Given the description of an element on the screen output the (x, y) to click on. 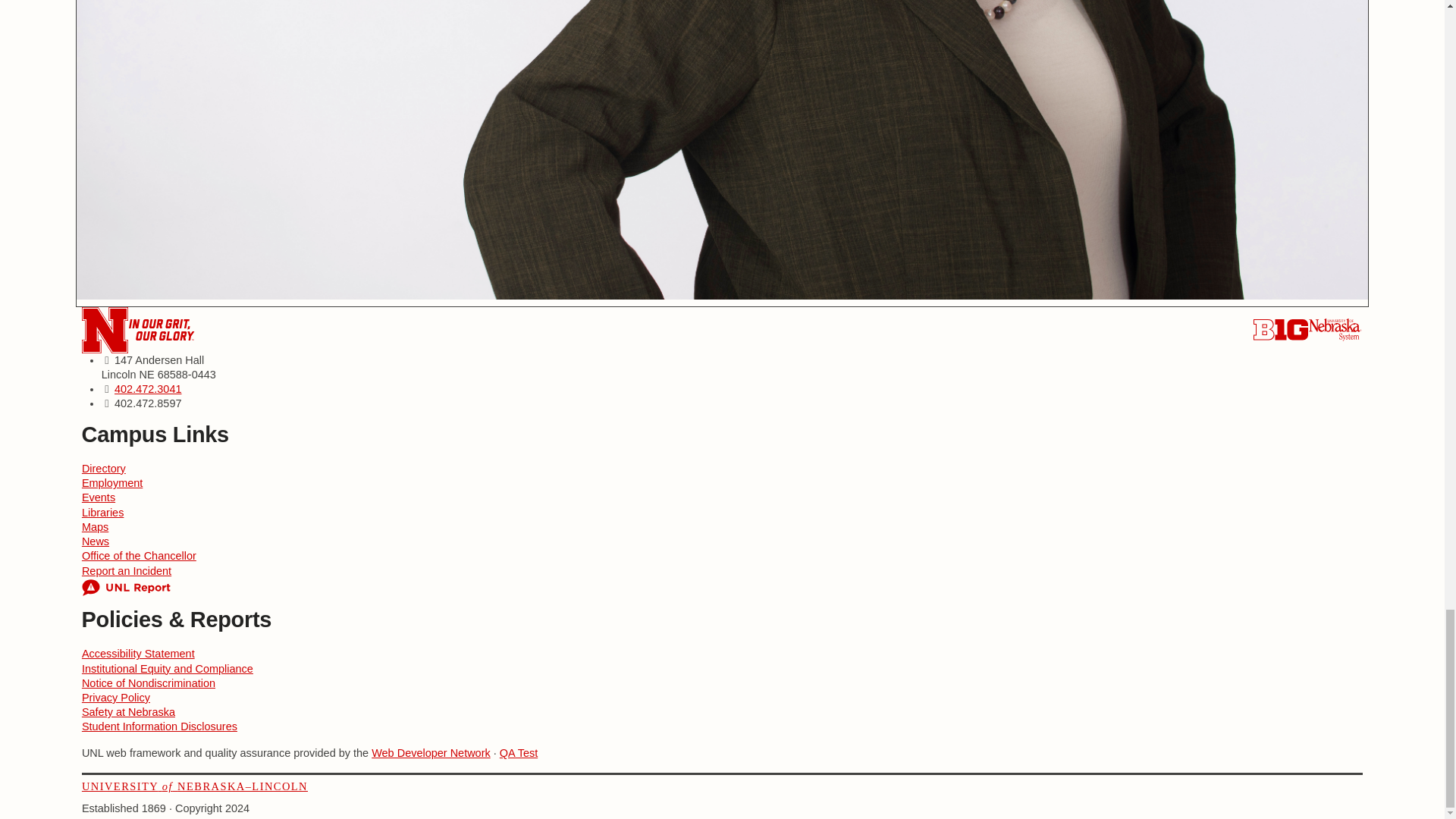
phone (148, 388)
